Given the description of an element on the screen output the (x, y) to click on. 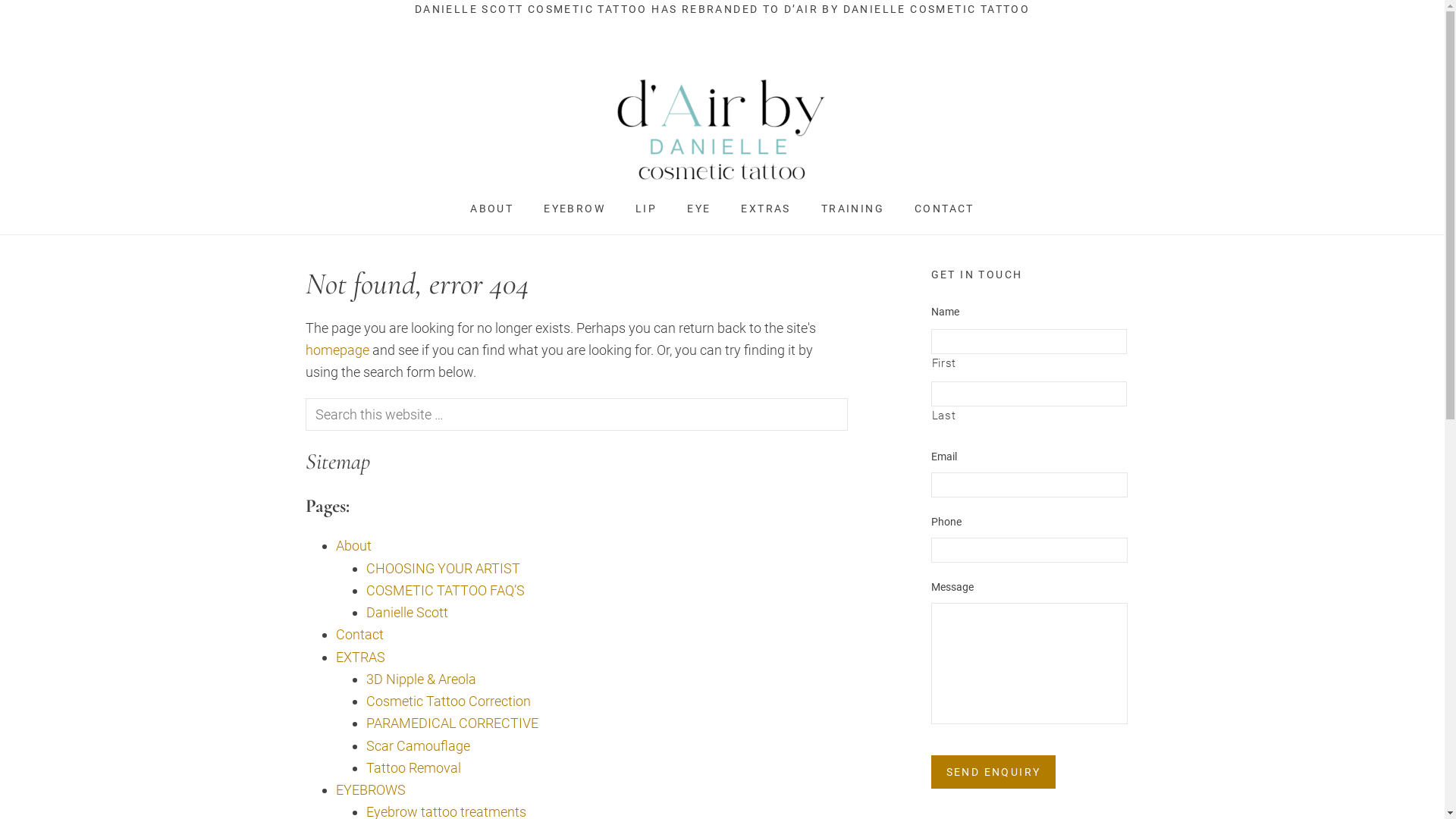
homepage Element type: text (336, 349)
TRAINING Element type: text (852, 208)
About Element type: text (352, 545)
LIP Element type: text (645, 208)
EYEBROWS Element type: text (369, 789)
PARAMEDICAL CORRECTIVE Element type: text (451, 723)
EYE Element type: text (698, 208)
Search Element type: text (846, 397)
ABOUT Element type: text (491, 208)
Danielle Scott Cosmetic Tattoo Element type: text (721, 126)
Contact Element type: text (358, 634)
CONTACT Element type: text (944, 208)
Scar Camouflage Element type: text (417, 745)
Danielle Scott Element type: text (406, 612)
EXTRAS Element type: text (765, 208)
EYEBROW Element type: text (574, 208)
Send enquiry Element type: text (993, 771)
Tattoo Removal Element type: text (412, 767)
EXTRAS Element type: text (359, 657)
Skip to content Element type: text (0, 0)
Cosmetic Tattoo Correction Element type: text (447, 701)
3D Nipple & Areola Element type: text (420, 679)
CHOOSING YOUR ARTIST Element type: text (442, 568)
